Given the description of an element on the screen output the (x, y) to click on. 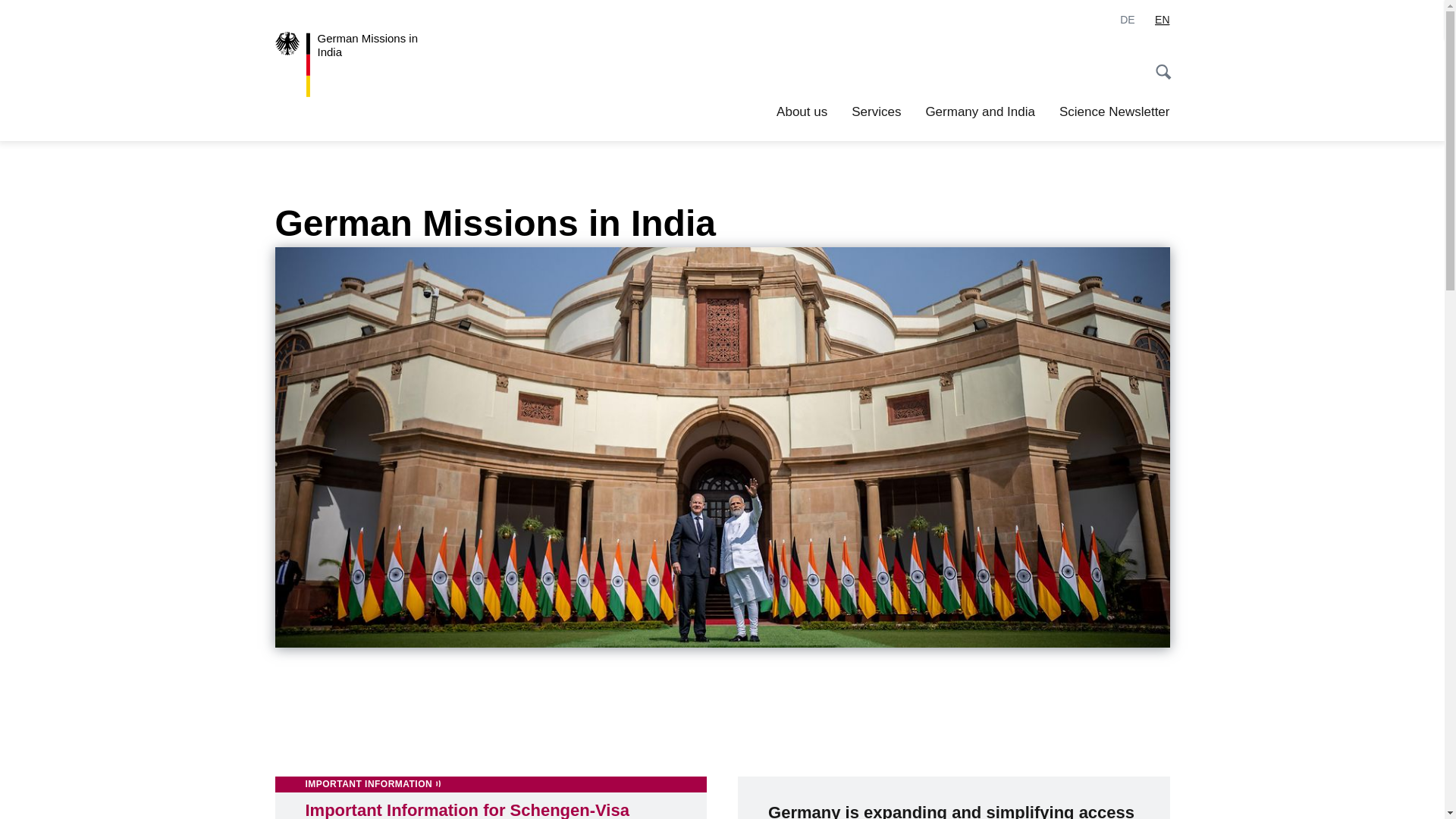
Services (876, 111)
Deutsch (1126, 19)
English (1161, 19)
About us (801, 111)
DE (1126, 20)
Science Newsletter (1114, 111)
Germany and India (979, 111)
